Given the description of an element on the screen output the (x, y) to click on. 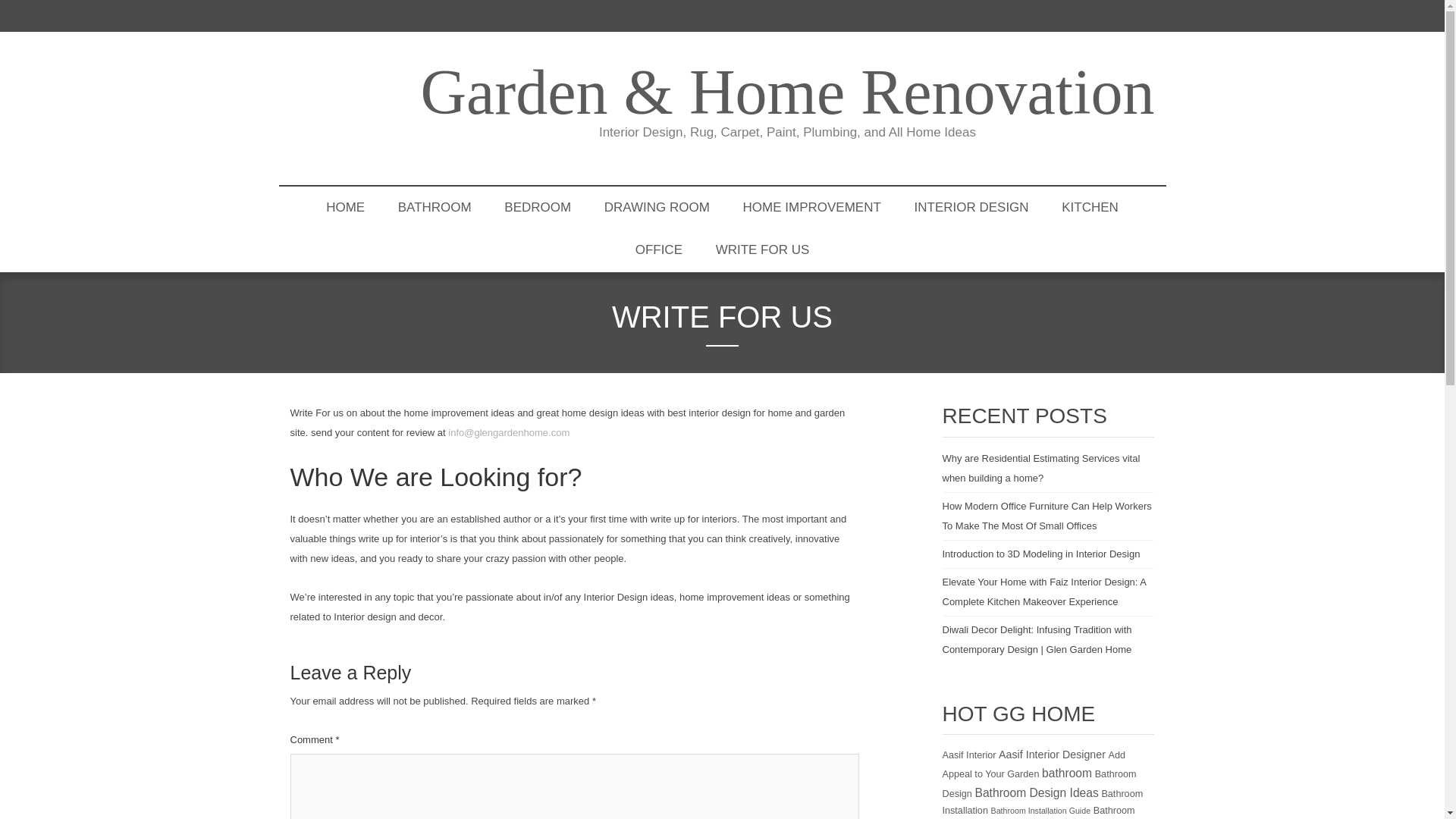
KITCHEN (1090, 207)
Aasif Interior (968, 756)
WRITE FOR US (762, 250)
INTERIOR DESIGN (971, 207)
Bathroom Design Ideas (1035, 792)
DRAWING ROOM (657, 207)
Bathroom Renovation (1038, 812)
bathroom (1067, 772)
HOME IMPROVEMENT (812, 207)
Introduction to 3D Modeling in Interior Design (1041, 554)
BEDROOM (537, 207)
Bathroom Installation Guide (1040, 809)
Add Appeal to Your Garden (1033, 764)
